Given the description of an element on the screen output the (x, y) to click on. 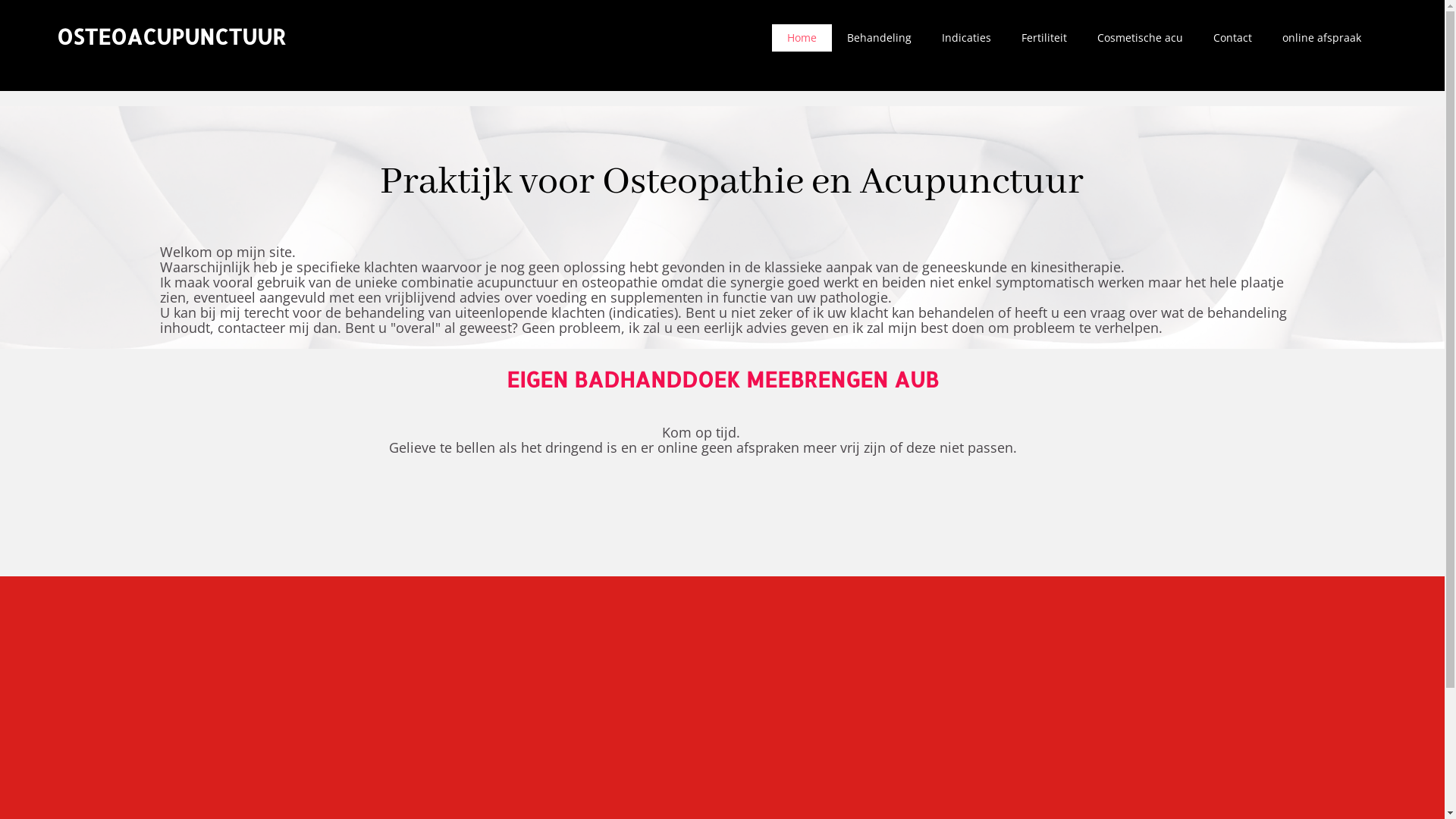
Behandeling Element type: text (878, 37)
Fertiliteit Element type: text (1044, 37)
Home Element type: text (801, 37)
online afspraak Element type: text (1321, 37)
Indicaties Element type: text (966, 37)
Contact Element type: text (1232, 37)
Cosmetische acu Element type: text (1140, 37)
